Given the description of an element on the screen output the (x, y) to click on. 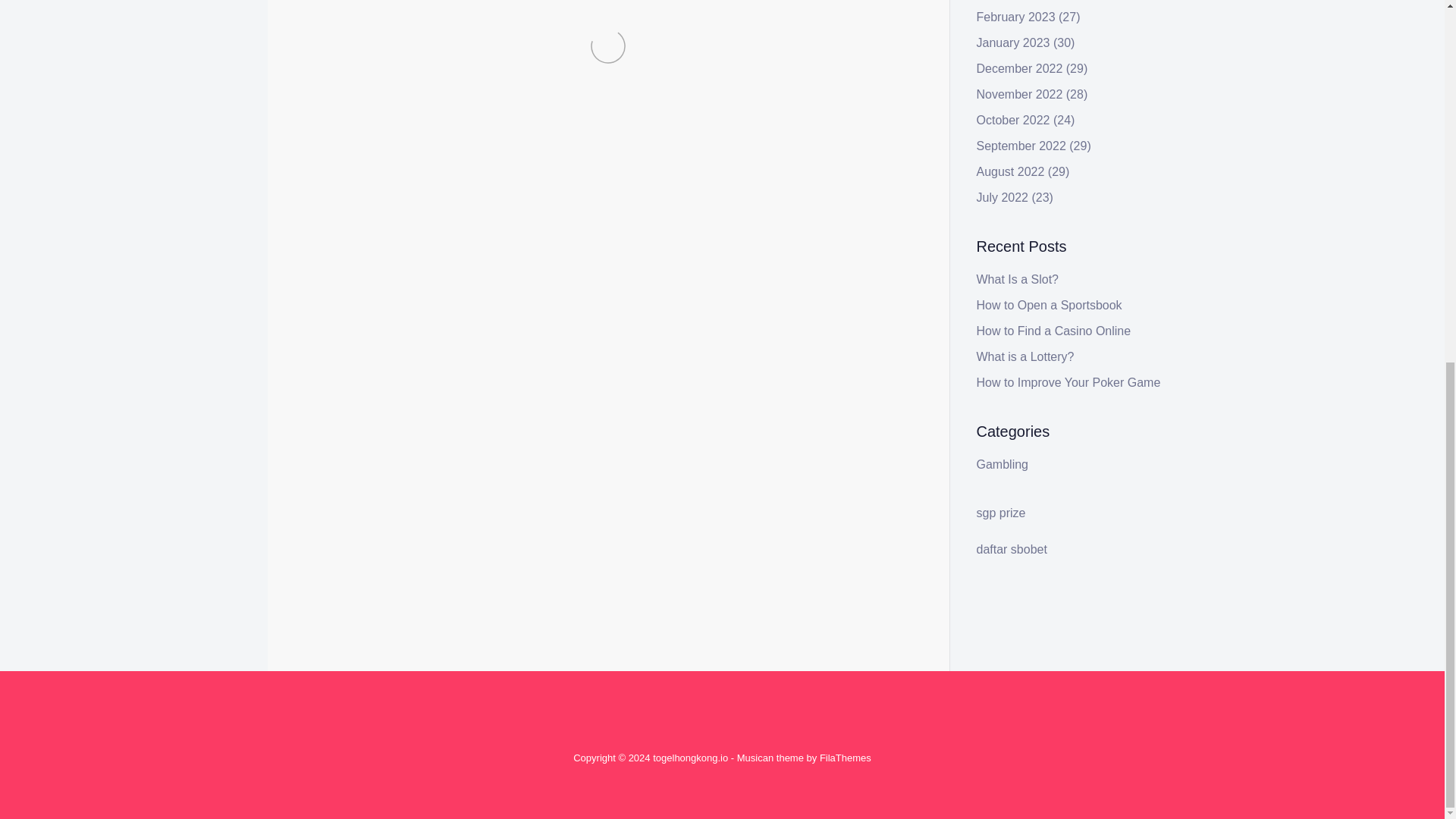
November 2022 (1019, 93)
September 2022 (1020, 145)
July 2022 (1002, 196)
February 2023 (1015, 16)
Gambling (376, 384)
August 2022 (1010, 171)
How to Open a Sportsbook (1049, 305)
January 2023 (1012, 42)
What is a Lottery? (1025, 356)
How to Find a Casino Online (1053, 330)
